Given the description of an element on the screen output the (x, y) to click on. 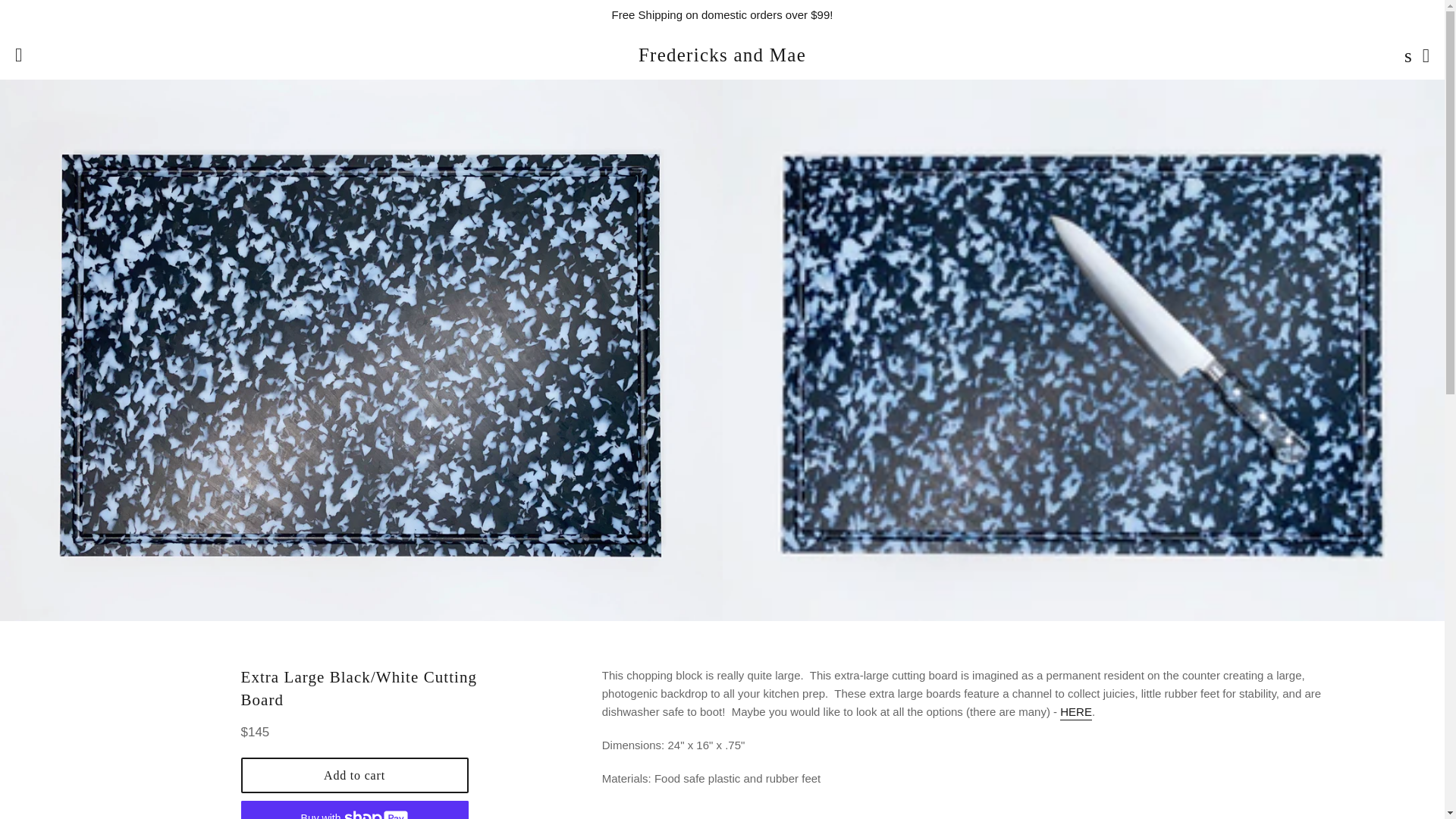
Cutting Board Collection (1075, 712)
Fredericks and Mae (722, 54)
Add to cart (354, 775)
HERE (1075, 712)
